Given the description of an element on the screen output the (x, y) to click on. 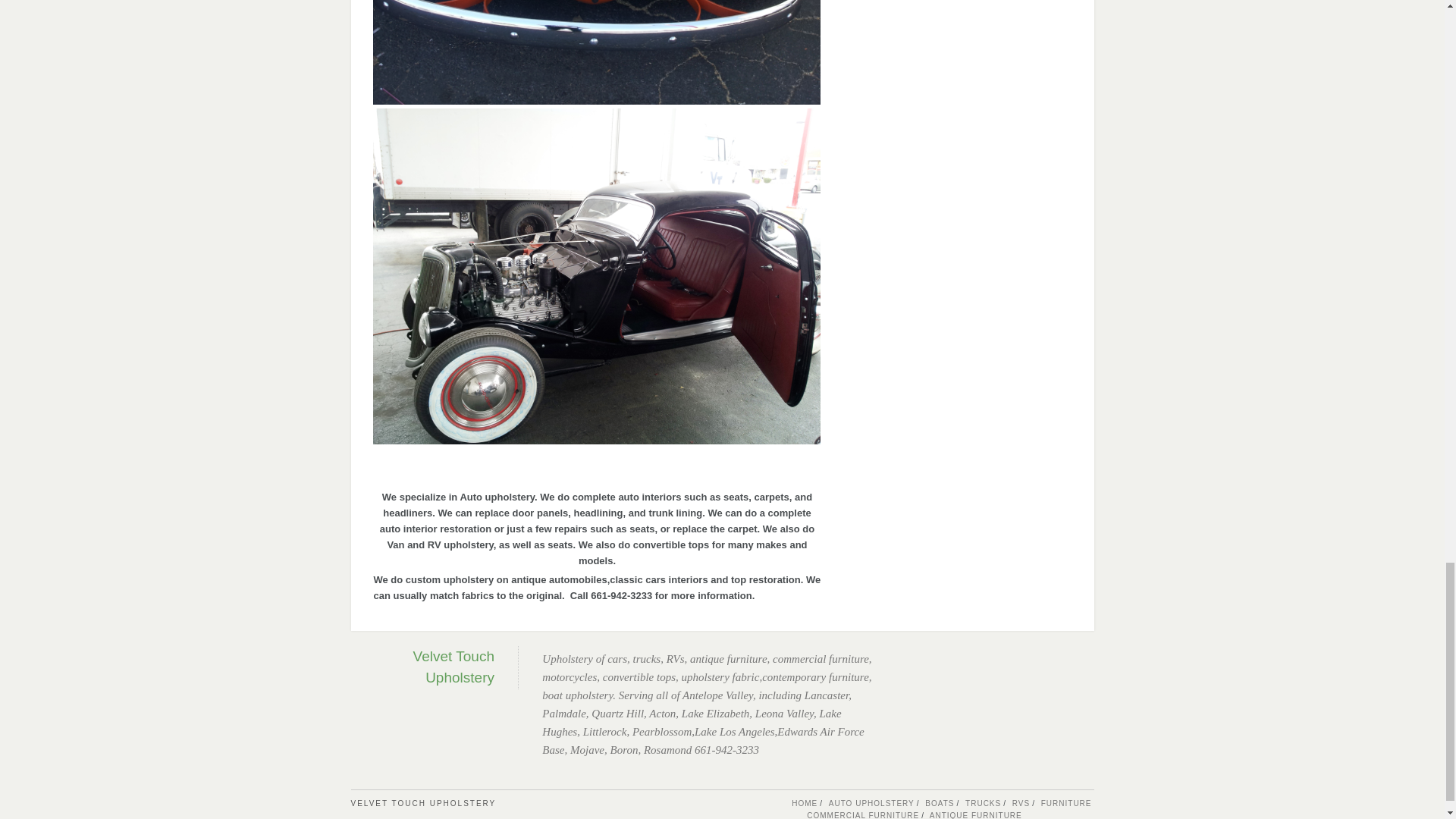
FURNITURE (1066, 803)
AUTO UPHOLSTERY (871, 803)
HOME (804, 803)
TRUCKS (983, 803)
BOATS (938, 803)
Classic car 01.jpg (596, 52)
RVS (1020, 803)
auto upholstery (596, 98)
auto upholstery (596, 438)
